Given the description of an element on the screen output the (x, y) to click on. 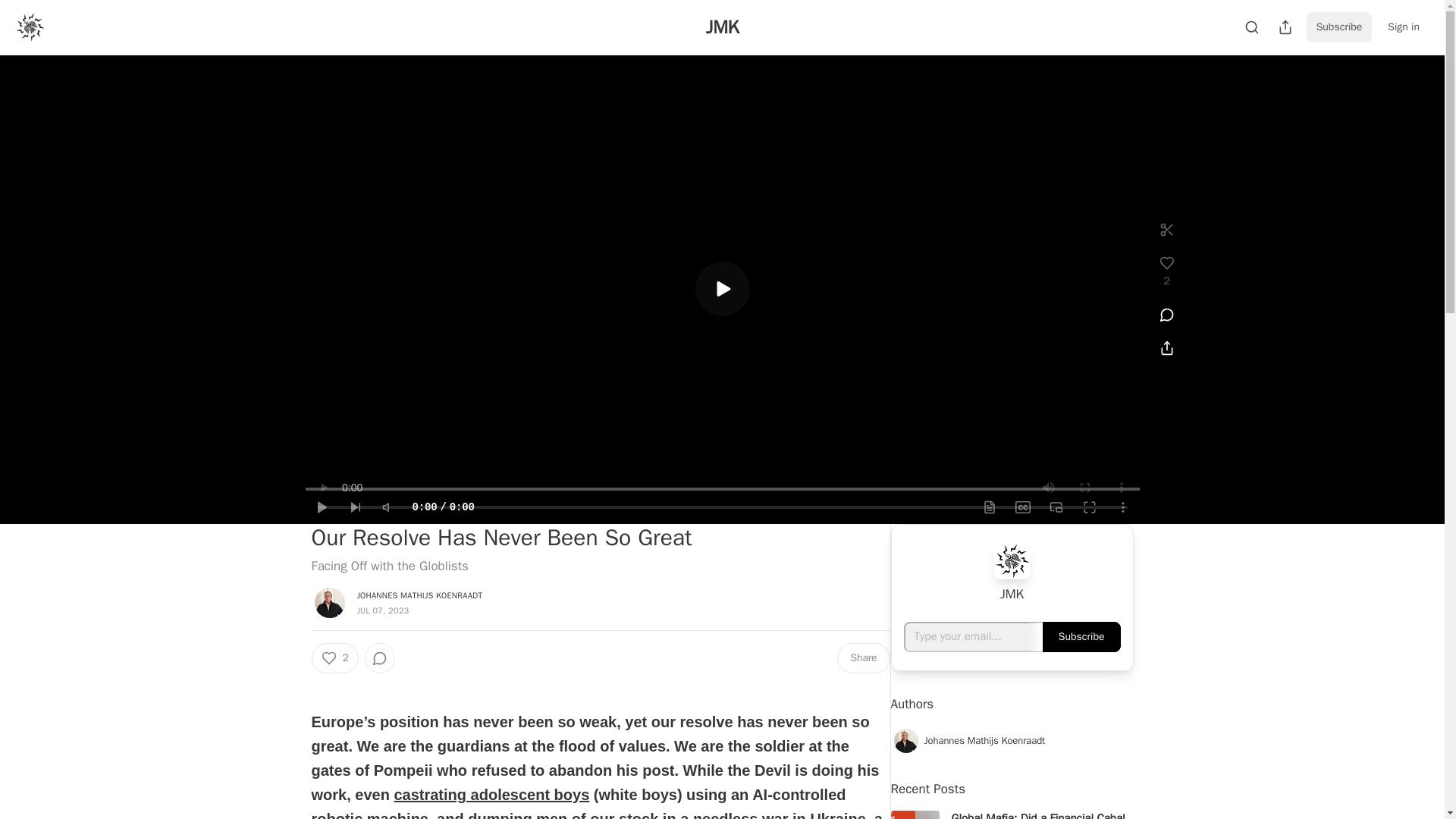
JMK (722, 26)
Subscribe (1339, 27)
Sign in (1403, 27)
2 (334, 657)
JOHANNES MATHIJS KOENRAADT (418, 594)
upgrade in order to watch this video and be able to clip it (1165, 229)
